Given the description of an element on the screen output the (x, y) to click on. 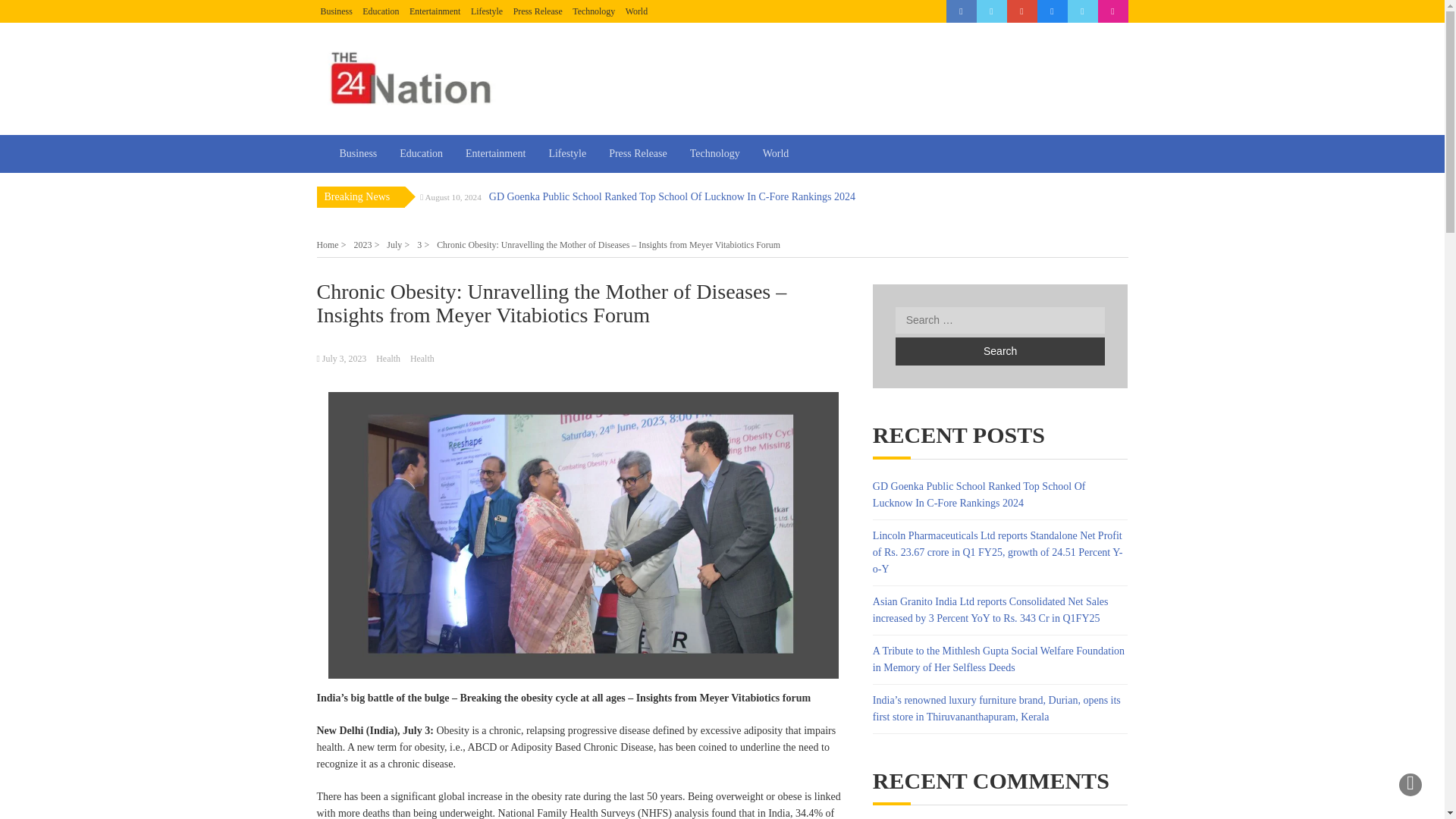
Entertainment (434, 10)
World (636, 10)
Business (336, 10)
Home (331, 244)
Health (421, 357)
World (775, 153)
Search (1000, 351)
July 3, 2023 (343, 357)
Education (421, 153)
Education (380, 10)
